Given the description of an element on the screen output the (x, y) to click on. 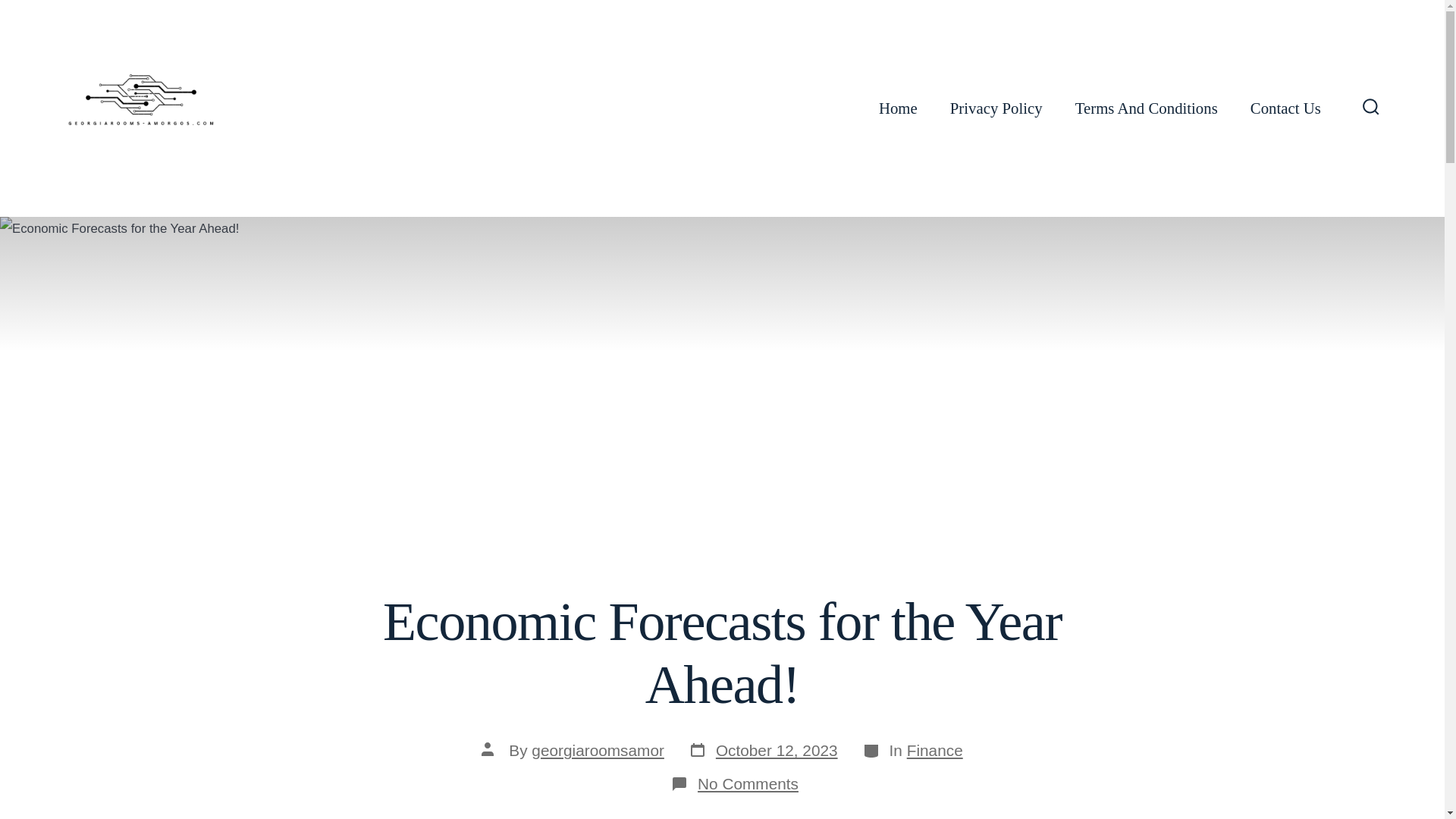
Privacy Policy (996, 108)
Finance (934, 750)
Search Toggle (1371, 107)
Terms And Conditions (1146, 108)
Home (898, 108)
Contact Us (1285, 108)
georgiaroomsamor (763, 751)
